Given the description of an element on the screen output the (x, y) to click on. 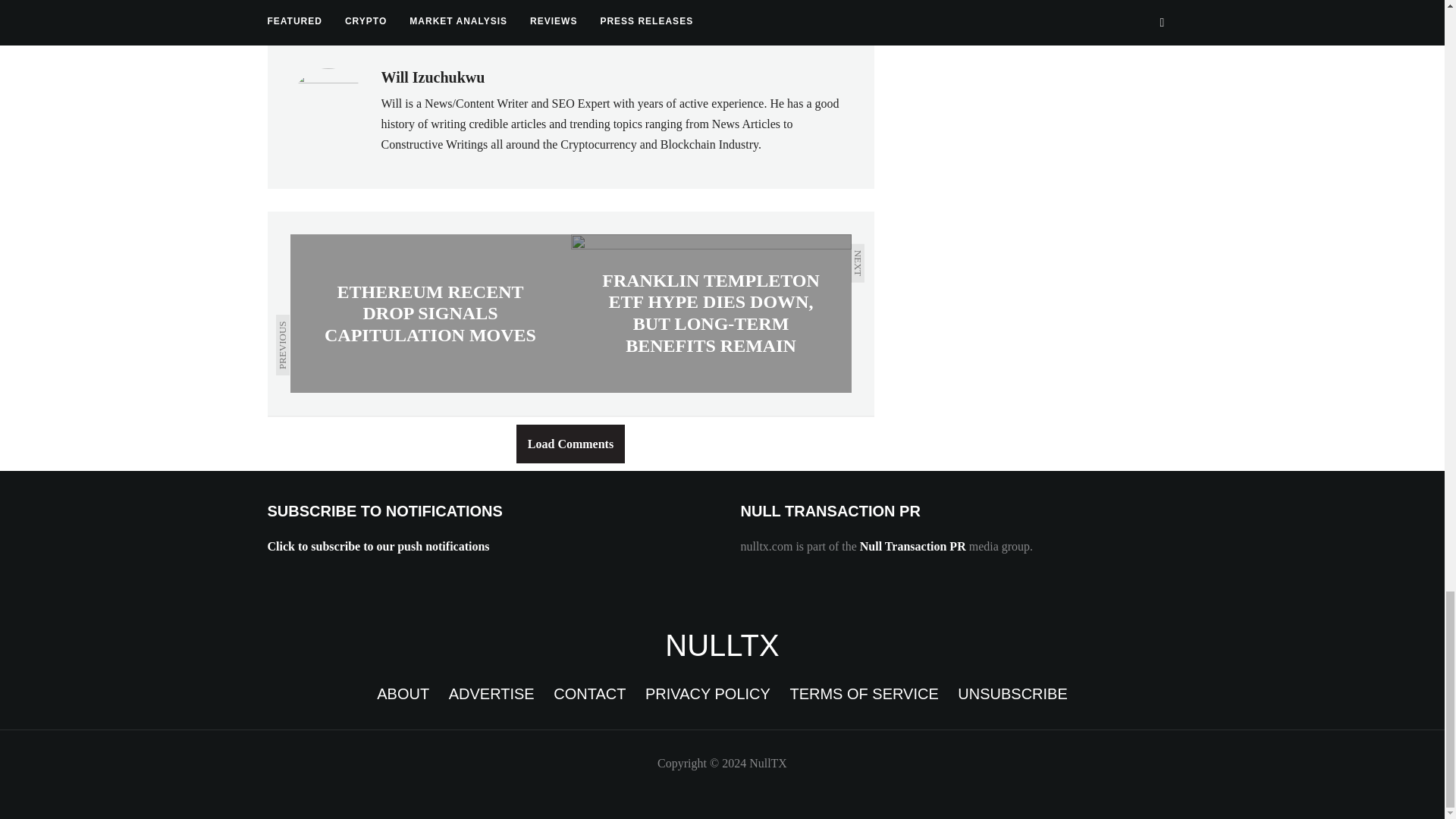
Bitcoin Cash (382, 9)
Cryptocurrency News (721, 644)
Spot ETF (654, 9)
Posts by Will Izuchukwu (432, 76)
btc (458, 9)
ETF (517, 9)
Ethereum Recent Drop Signals Capitulation Moves (429, 313)
Will Izuchukwu (432, 76)
bitcoin (297, 9)
ETHEREUM RECENT DROP SIGNALS CAPITULATION MOVES (429, 313)
ETFs (580, 9)
